Given the description of an element on the screen output the (x, y) to click on. 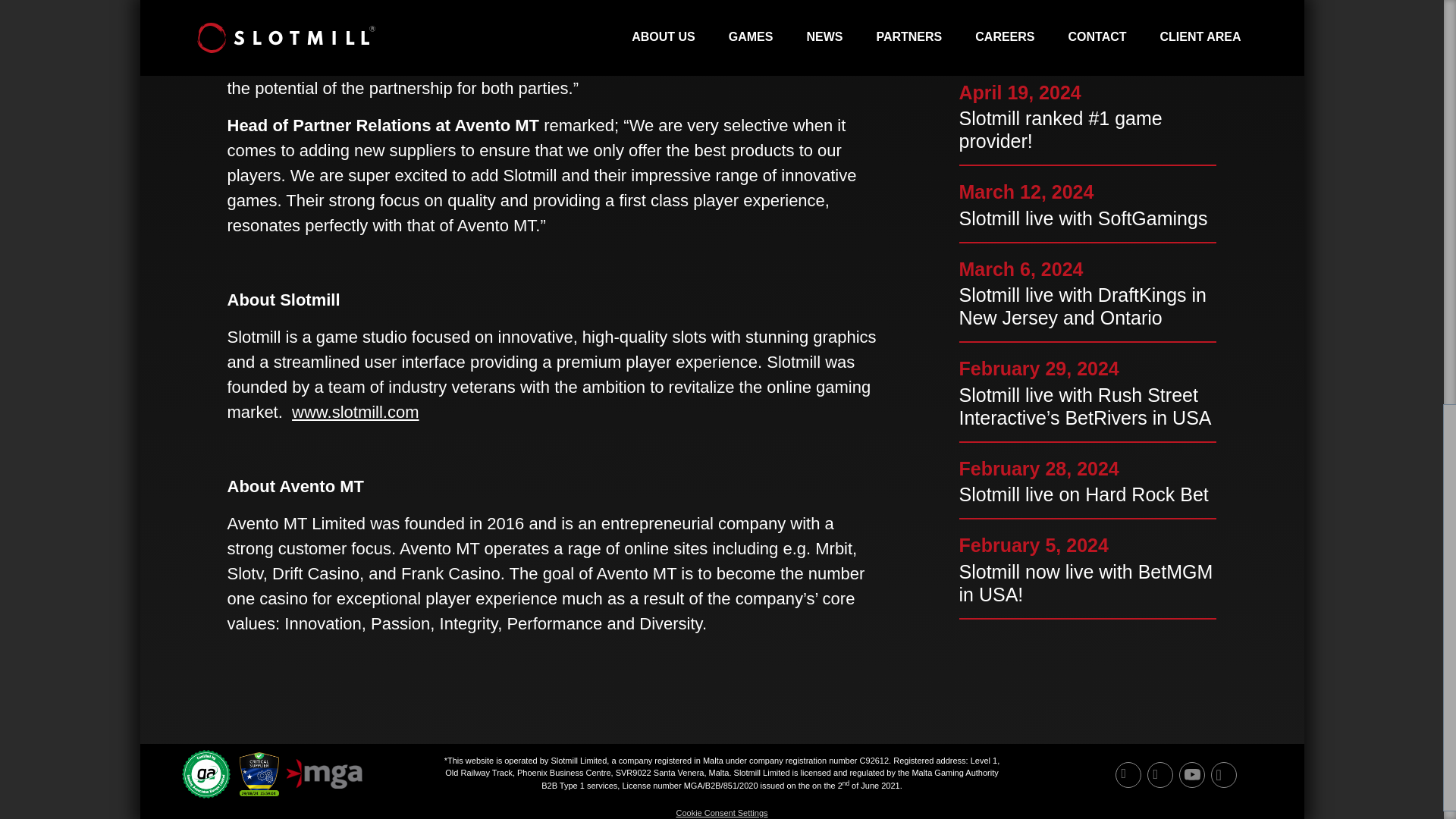
Slotmill live with SoftGamings (1086, 218)
Cookie Consent Settings (721, 812)
Slotmill approved in Michigan (1086, 41)
Slotmill now live with BetMGM in USA! (1086, 583)
Slotmill on Instagram (1220, 777)
Slotmill on LinkedIn (1124, 777)
Slotmill live on Hard Rock Bet (1086, 494)
Slotmill on YouTube (1188, 777)
Slotmill live with DraftKings in New Jersey and Ontario (1086, 306)
www.slotmill.com (355, 411)
